Given the description of an element on the screen output the (x, y) to click on. 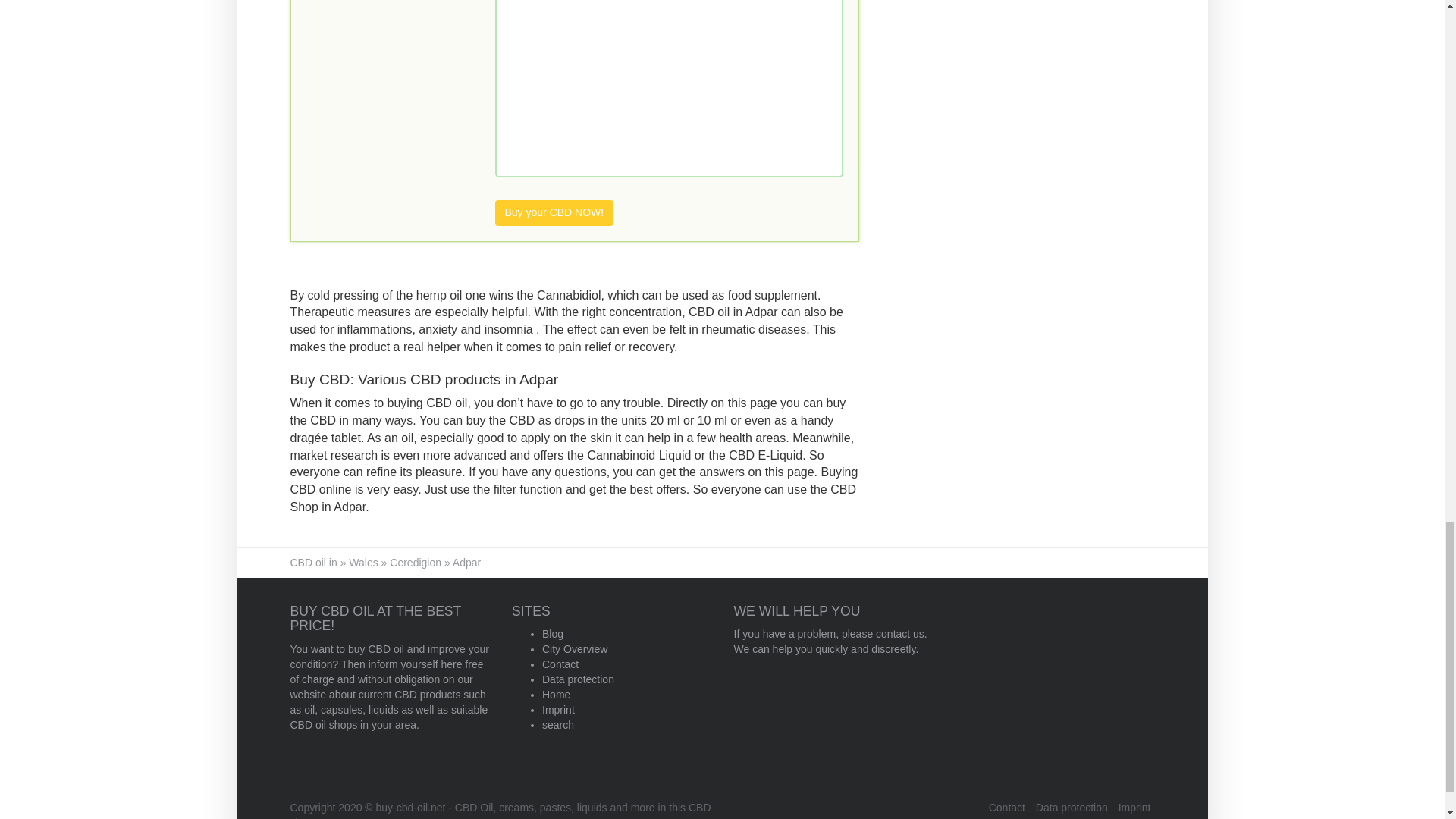
online (381, 38)
Nordic USA jetzt kennenlernen! (381, 38)
Nordic USA jetzt kennenlernen! (553, 212)
Buy your CBD NOW! (553, 212)
